Given the description of an element on the screen output the (x, y) to click on. 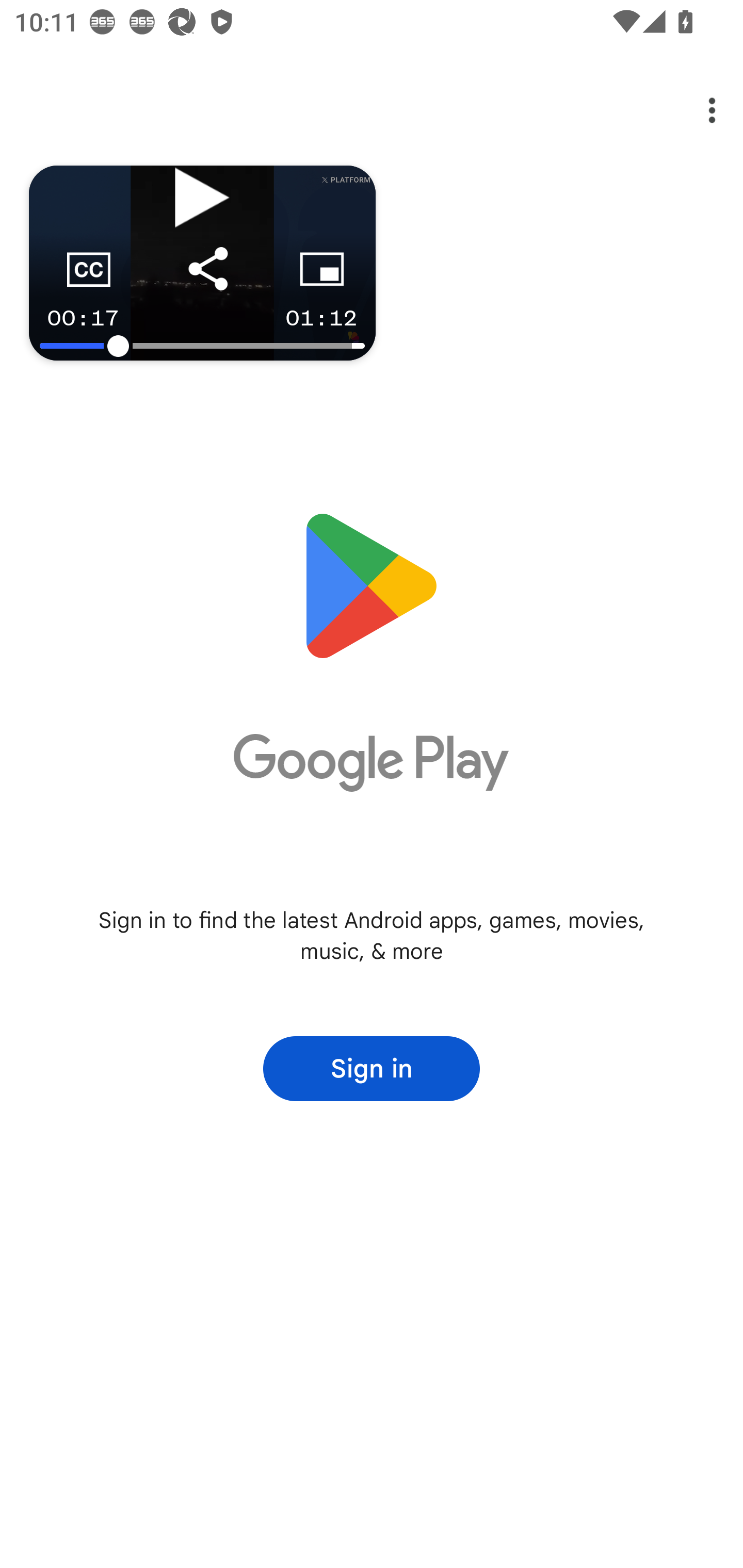
Options (697, 110)
Sign in (371, 1068)
